Given the description of an element on the screen output the (x, y) to click on. 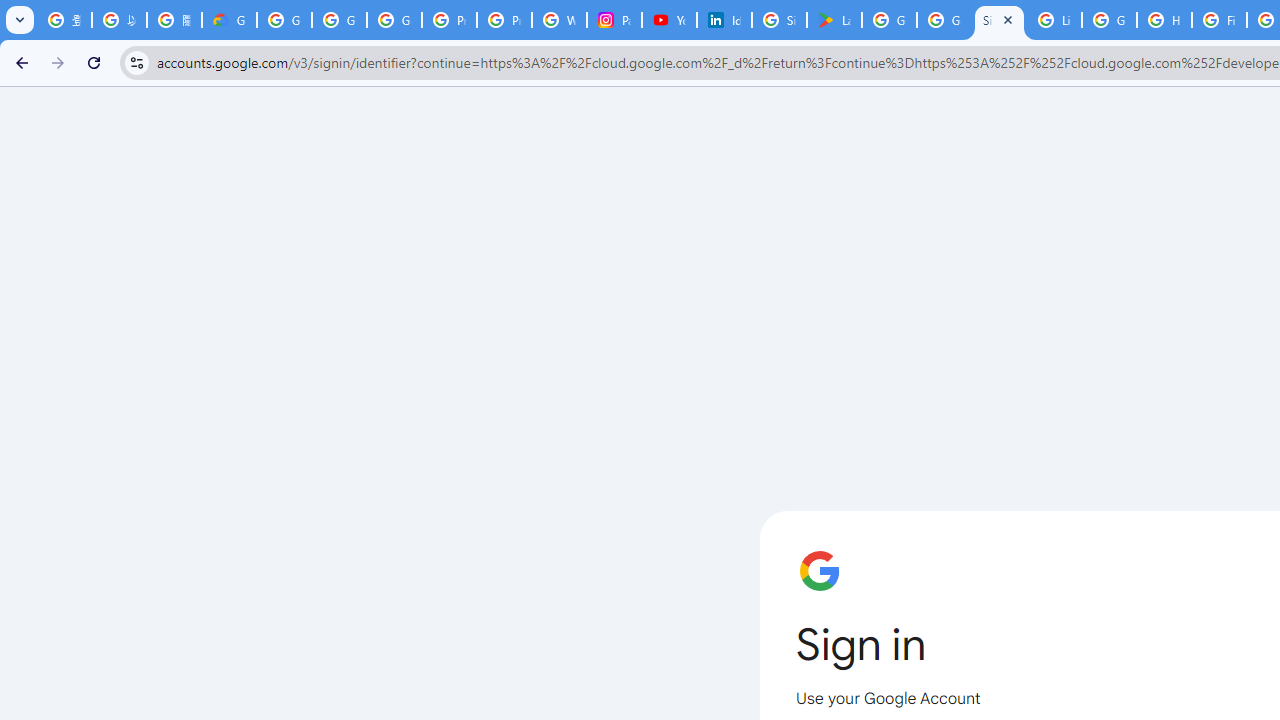
Google Workspace - Specific Terms (943, 20)
YouTube Culture & Trends - On The Rise: Handcam Videos (669, 20)
Privacy Help Center - Policies Help (504, 20)
Sign in - Google Accounts (998, 20)
Last Shelter: Survival - Apps on Google Play (833, 20)
